Given the description of an element on the screen output the (x, y) to click on. 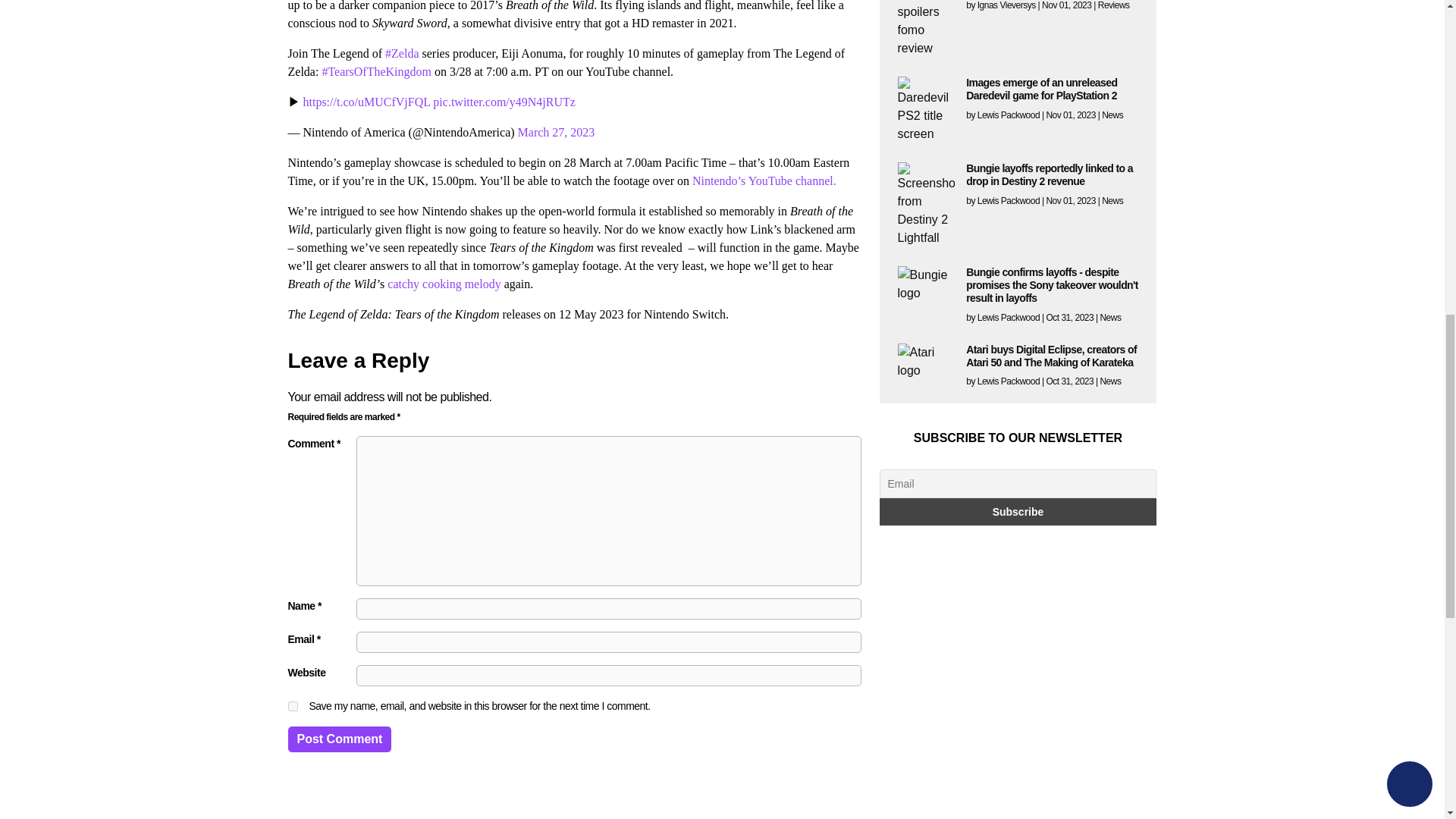
March 27, 2023 (556, 132)
Post Comment (339, 739)
Subscribe (1018, 511)
Post Comment (339, 739)
catchy cooking melody (443, 283)
